Given the description of an element on the screen output the (x, y) to click on. 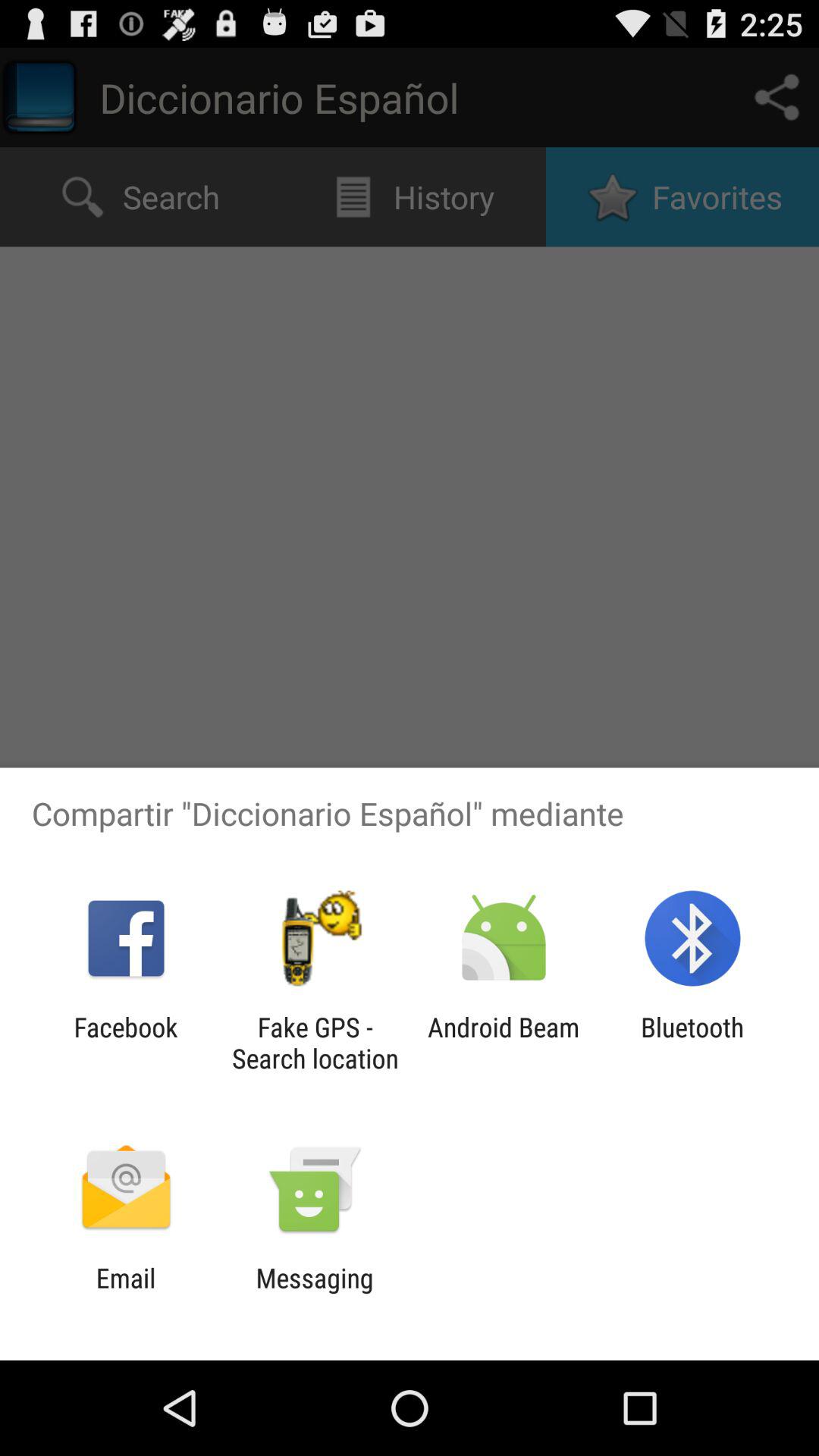
select item to the right of android beam (691, 1042)
